Given the description of an element on the screen output the (x, y) to click on. 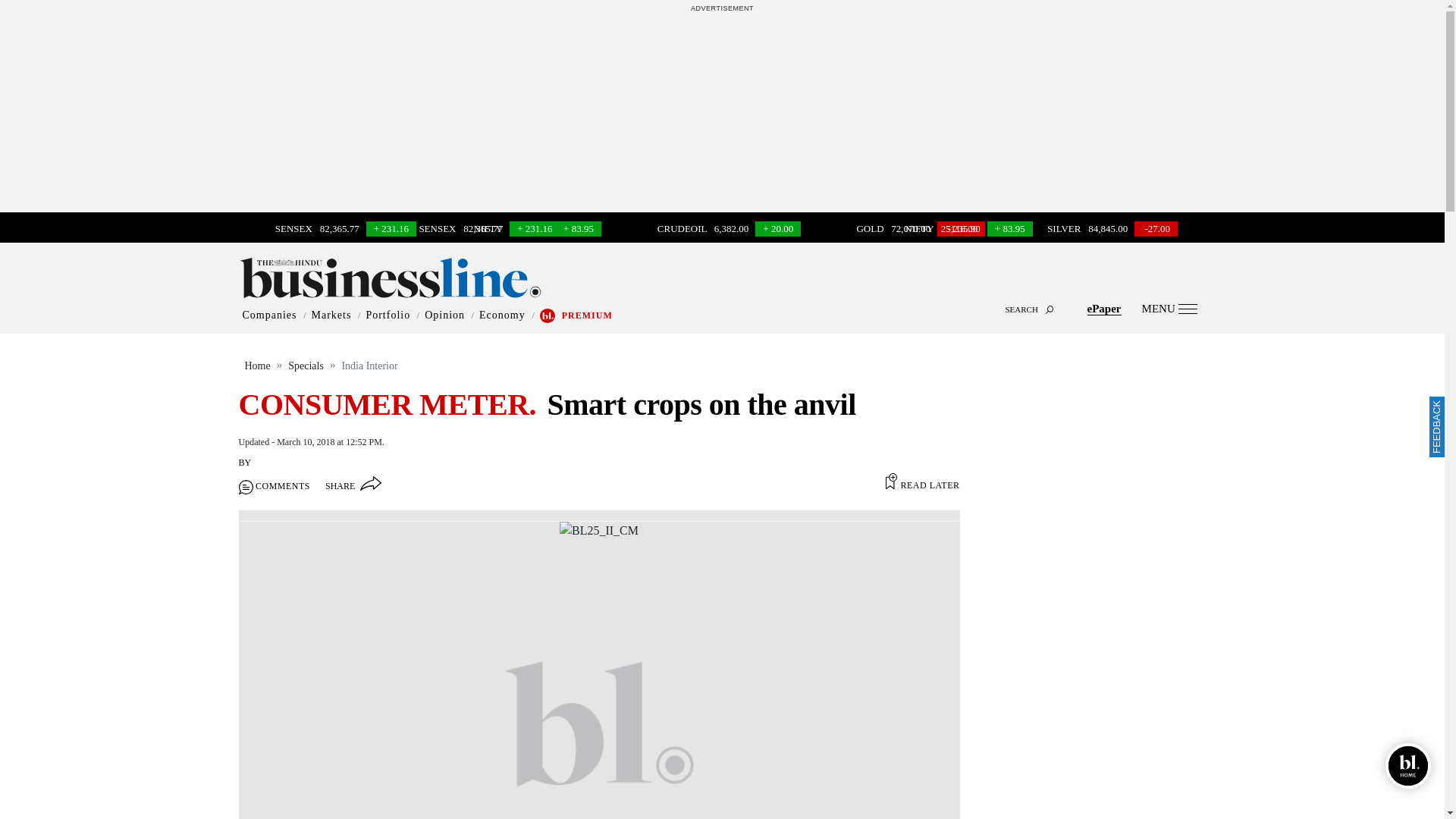
ePaper (1104, 308)
MENU (1168, 308)
Opinion (444, 315)
Portfolio (387, 315)
SEARCH (721, 295)
Markets (330, 315)
Companies (270, 315)
Economy (502, 315)
PREMIUM (587, 315)
